Given the description of an element on the screen output the (x, y) to click on. 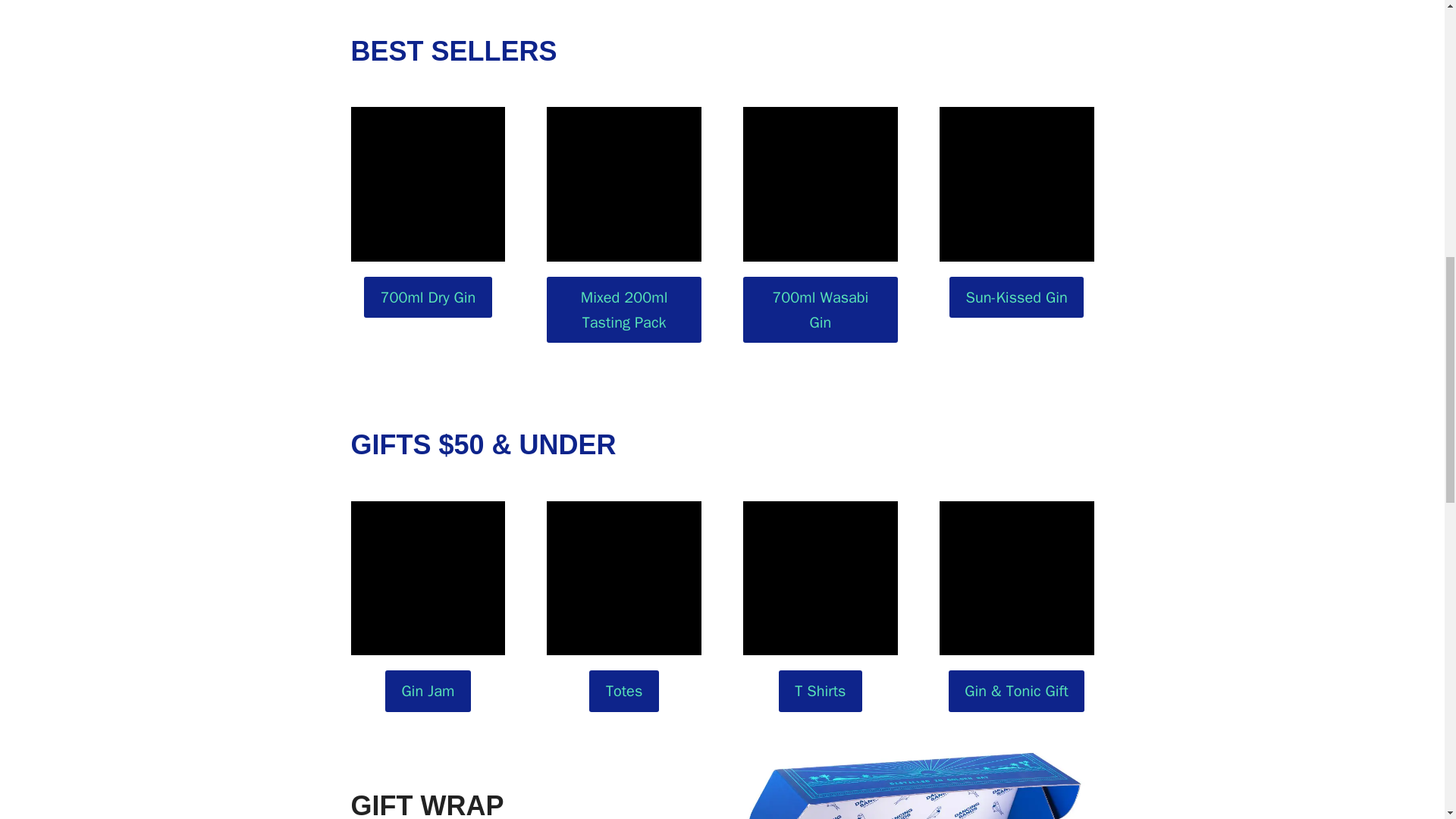
Merch Image 2 (624, 578)
Wasabi Gin Lifestyle2 900x900 (820, 184)
DancingSandsSavignonBlancGiftBox 900x900 (1016, 578)
Gin Shop Button (427, 184)
DancingSandsT-shirt Lifestyle 900x900 (820, 578)
700ml Dry Gin (428, 297)
